Given the description of an element on the screen output the (x, y) to click on. 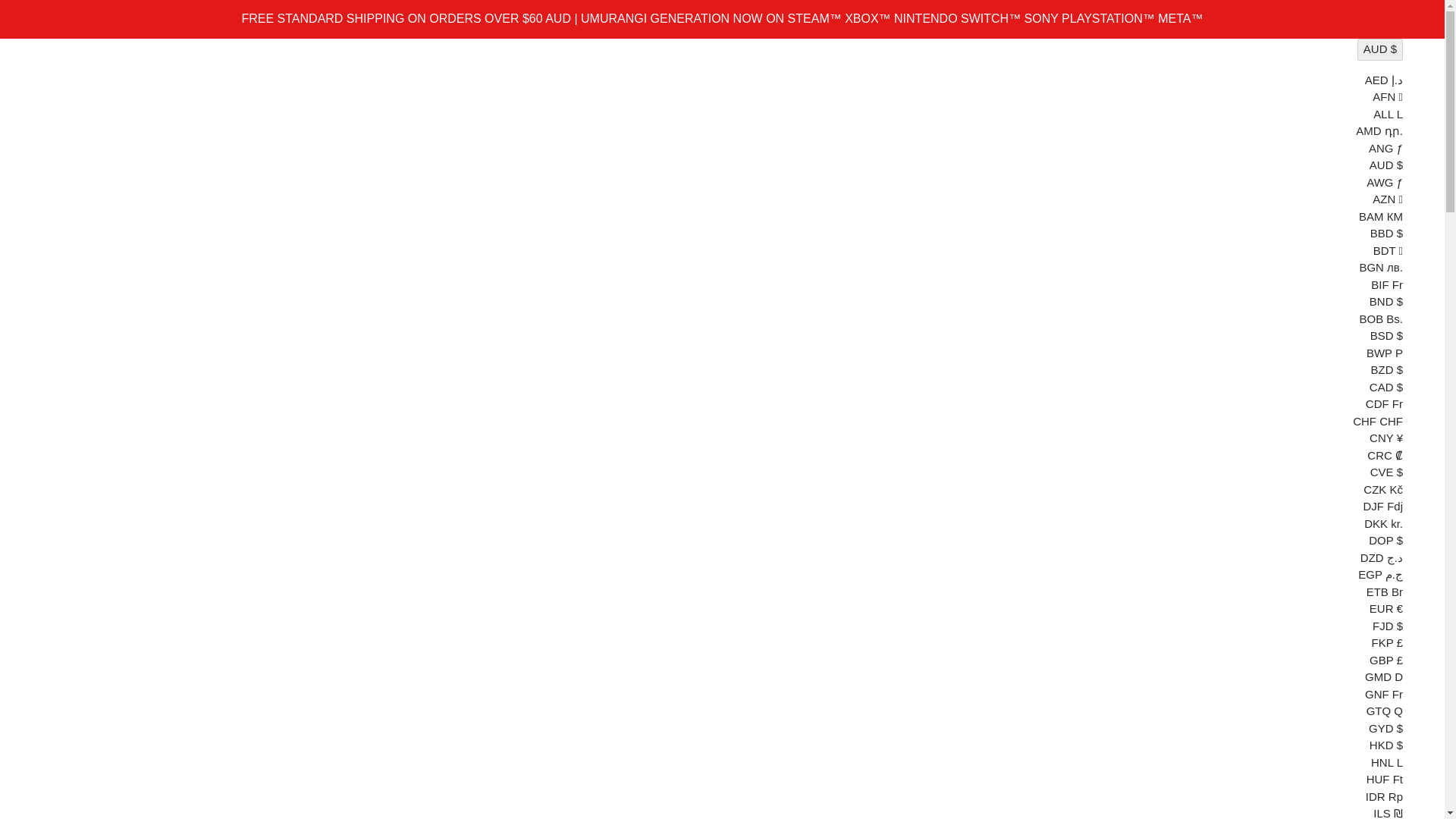
BOB Bs. (1380, 318)
BIF Fr (1387, 283)
ALL L (1388, 113)
BWP P (1385, 351)
